Given the description of an element on the screen output the (x, y) to click on. 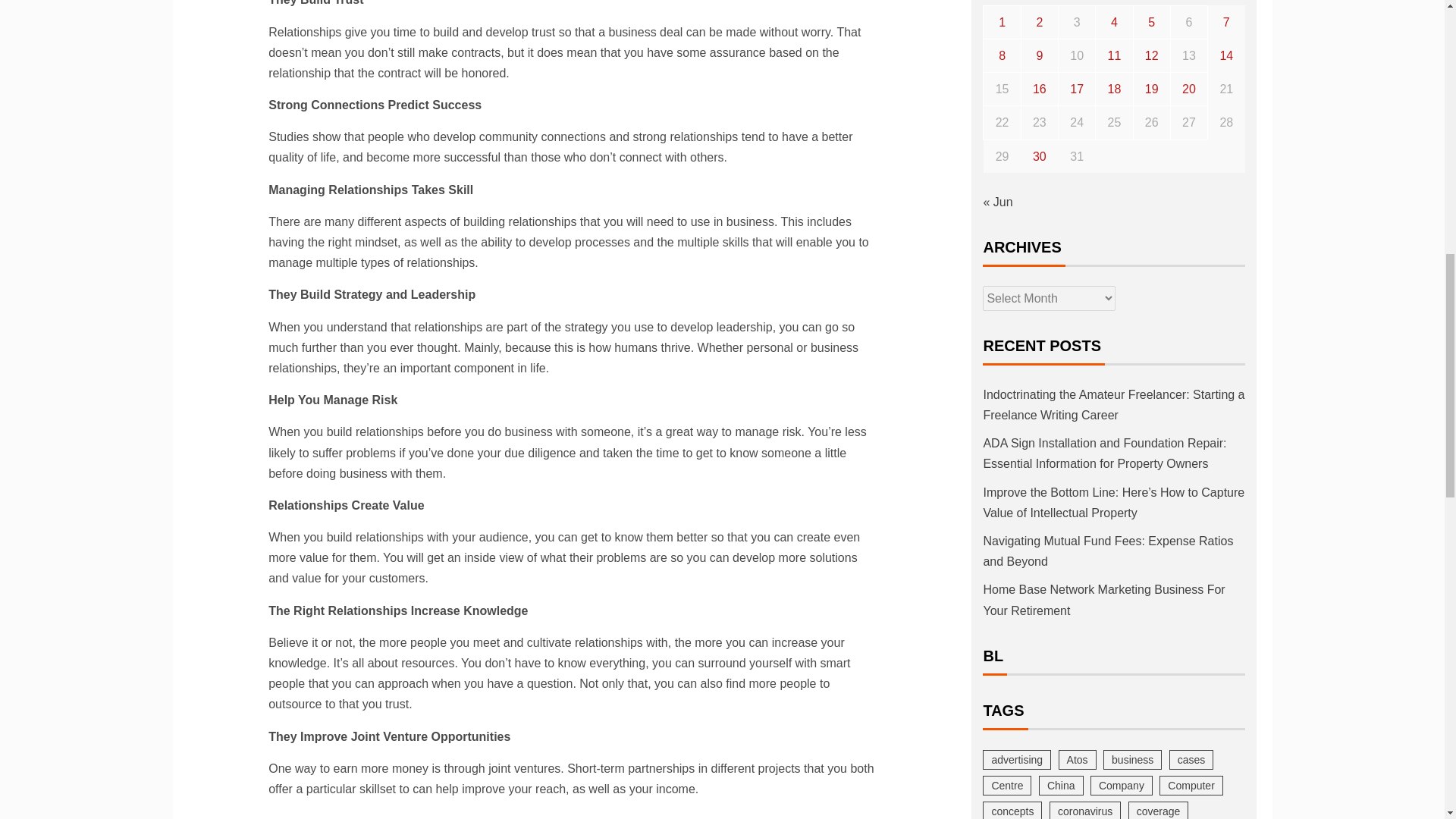
Tuesday (1039, 2)
Thursday (1114, 2)
Wednesday (1077, 2)
Monday (1002, 2)
